Given the description of an element on the screen output the (x, y) to click on. 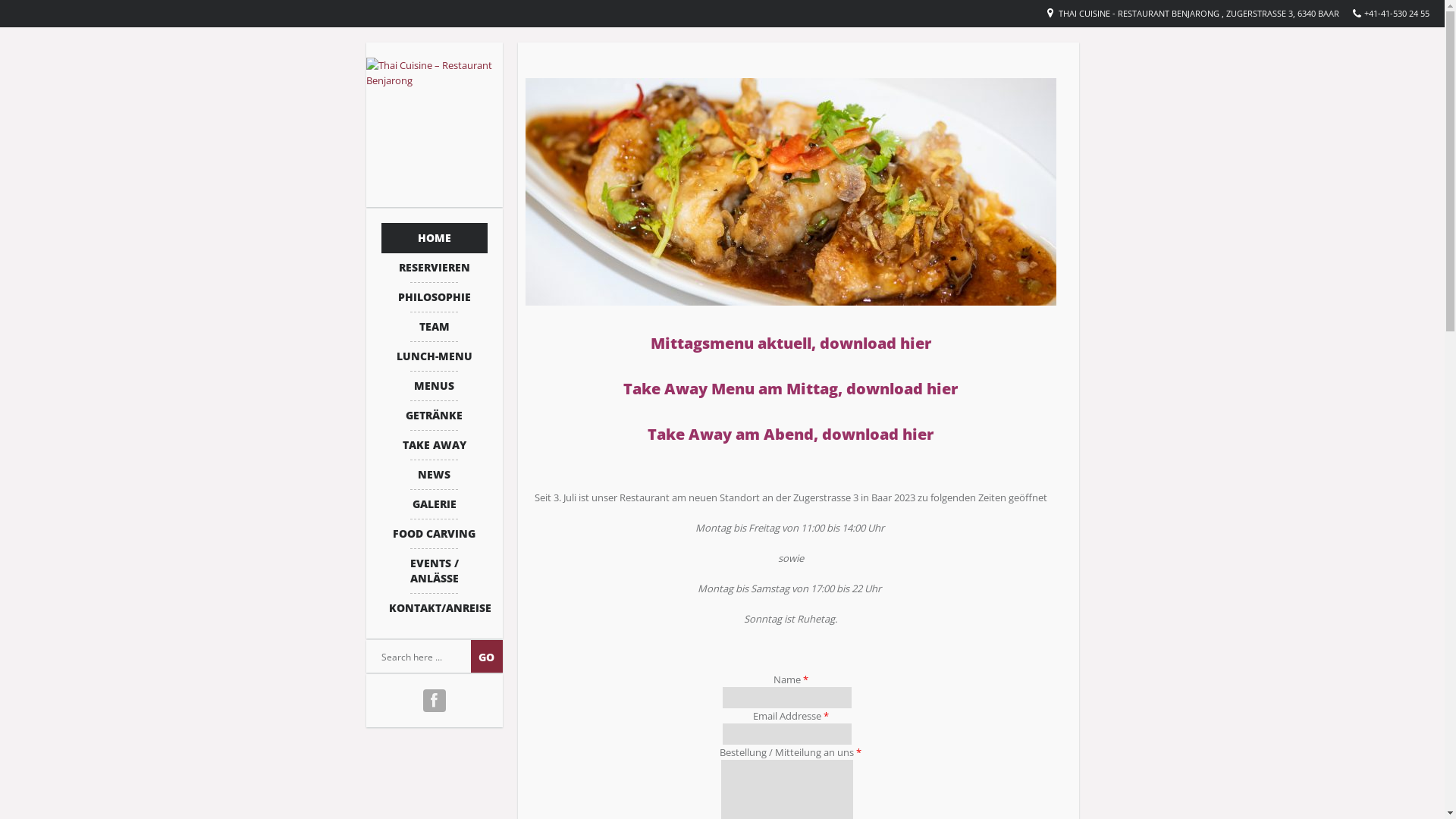
FOOD CARVING Element type: text (433, 533)
Go Element type: text (486, 656)
CA2_1478 Element type: hover (789, 191)
GALERIE Element type: text (433, 504)
Take Away Menu am Mittag, download hier Element type: text (790, 388)
Take Away am Abend, download hier Element type: text (790, 433)
PHILOSOPHIE Element type: text (433, 297)
LUNCH-MENU Element type: text (433, 356)
Mittagsmenu aktuell, download hier Element type: text (790, 342)
KONTAKT/ANREISE Element type: text (433, 608)
MENUS Element type: text (433, 385)
RESERVIEREN Element type: text (433, 267)
TAKE AWAY Element type: text (433, 444)
NEWS Element type: text (433, 474)
HOME Element type: text (433, 237)
TEAM Element type: text (433, 326)
